Given the description of an element on the screen output the (x, y) to click on. 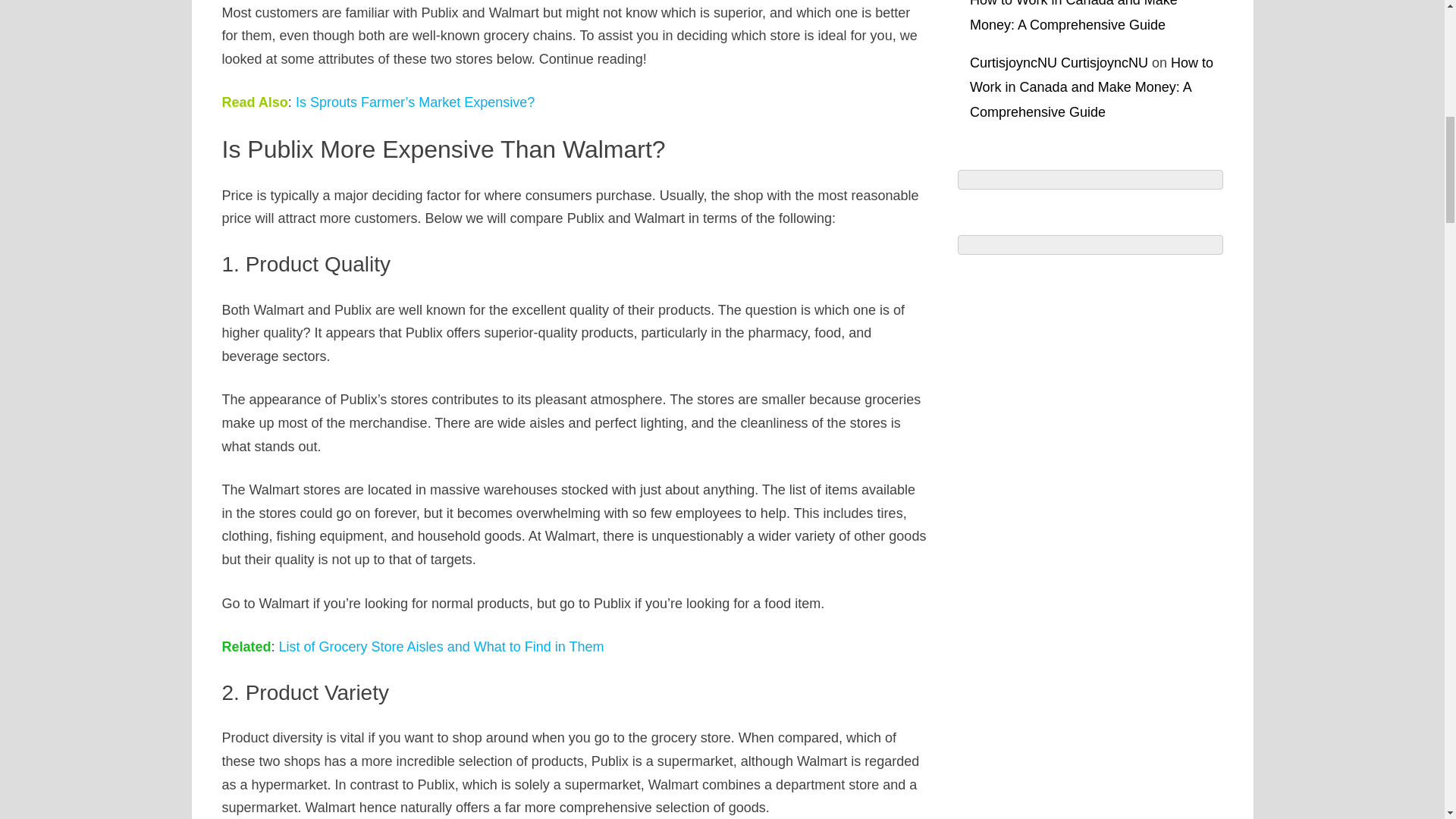
List of Grocery Store Aisles and What to Find in Them (441, 646)
